Given the description of an element on the screen output the (x, y) to click on. 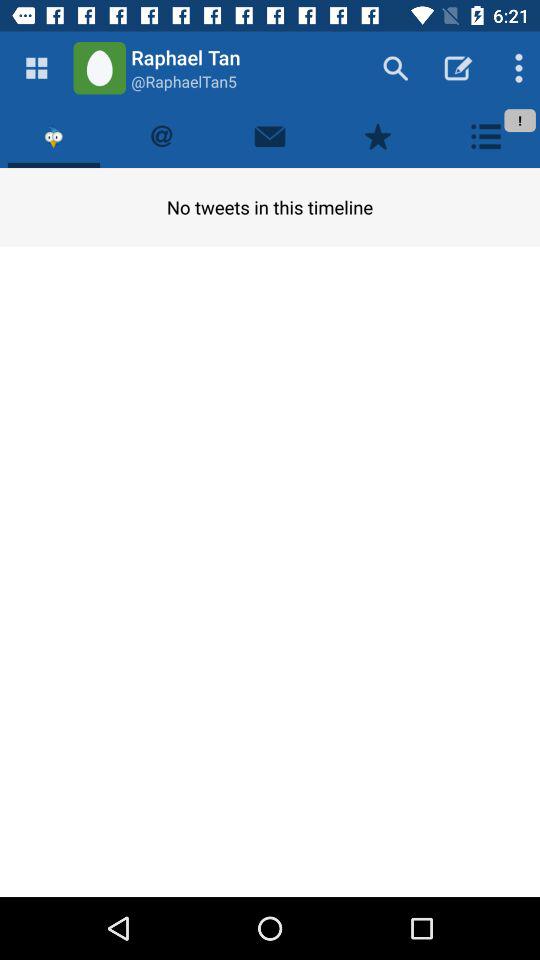
flip to the no tweets in item (270, 206)
